Given the description of an element on the screen output the (x, y) to click on. 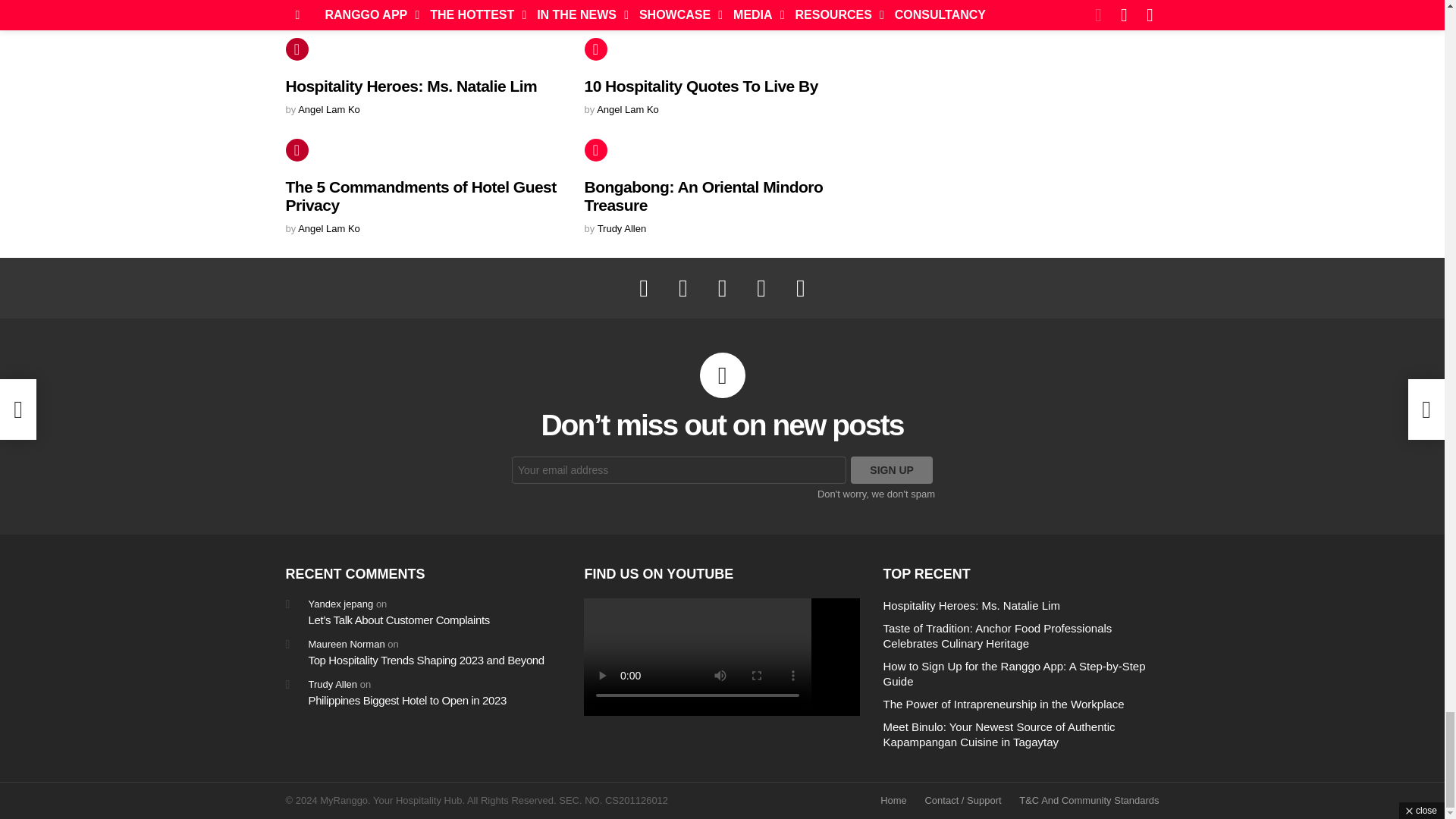
Sign up (891, 470)
